Given the description of an element on the screen output the (x, y) to click on. 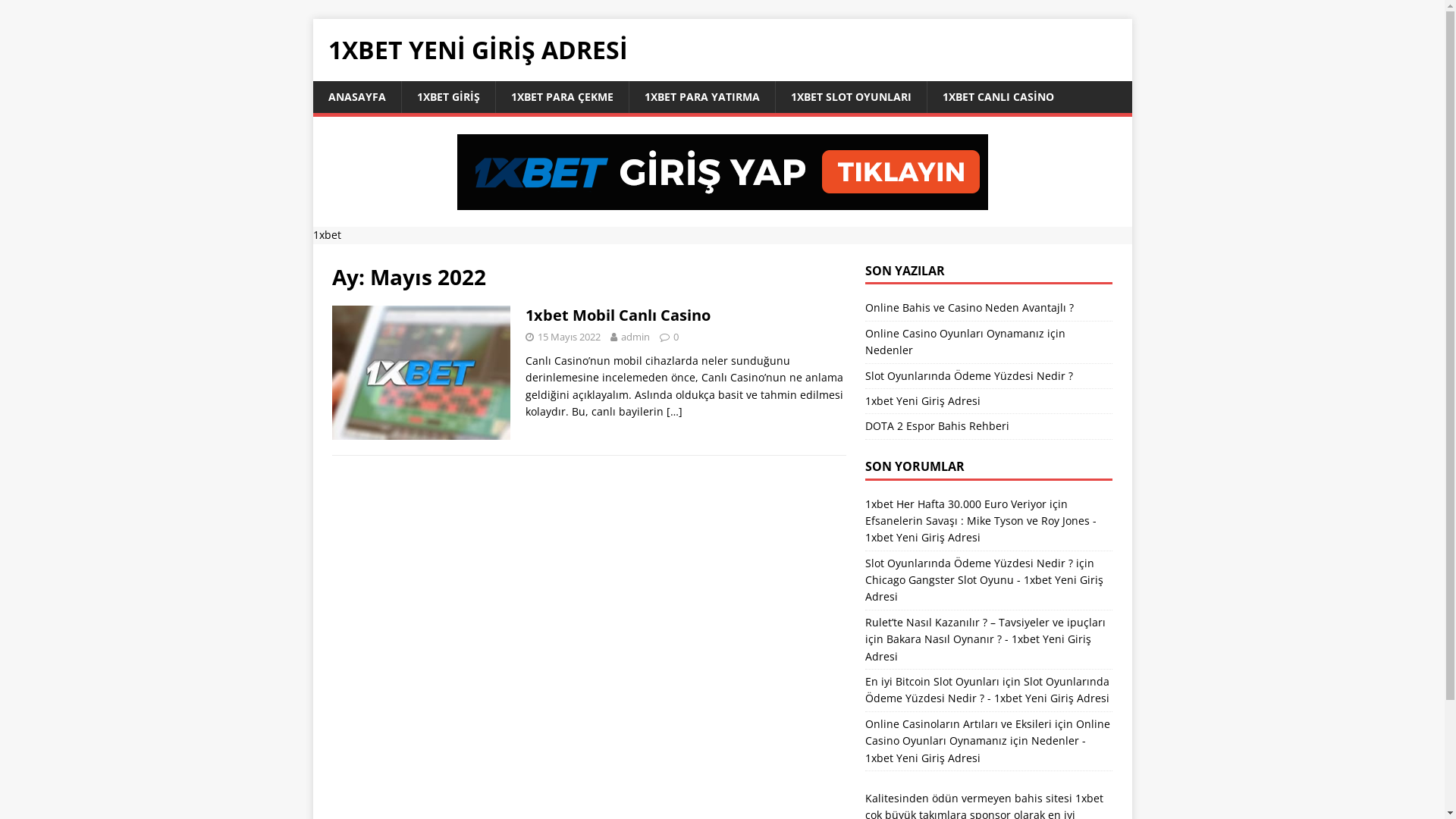
1XBET PARA YATIRMA Element type: text (700, 96)
admin Element type: text (634, 336)
DOTA 2 Espor Bahis Rehberi Element type: text (937, 425)
1XBET CANLI CASINO Element type: text (997, 96)
1XBET SLOT OYUNLARI Element type: text (850, 96)
0 Element type: text (675, 336)
1xbet Element type: text (1089, 797)
ANASAYFA Element type: text (356, 96)
1xbet Her Hafta 30.000 Euro Veriyor Element type: text (955, 502)
1xbet Element type: text (326, 234)
